Given the description of an element on the screen output the (x, y) to click on. 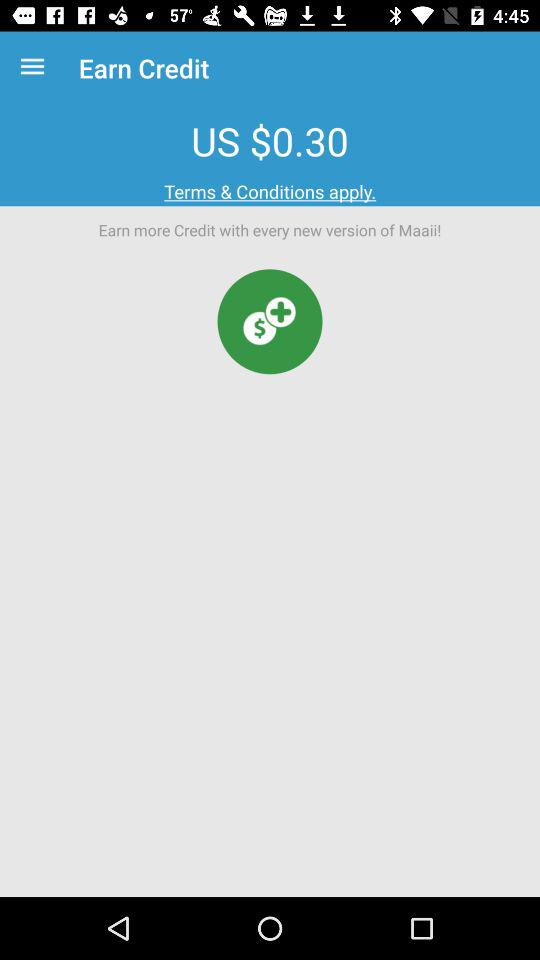
add money (269, 321)
